Given the description of an element on the screen output the (x, y) to click on. 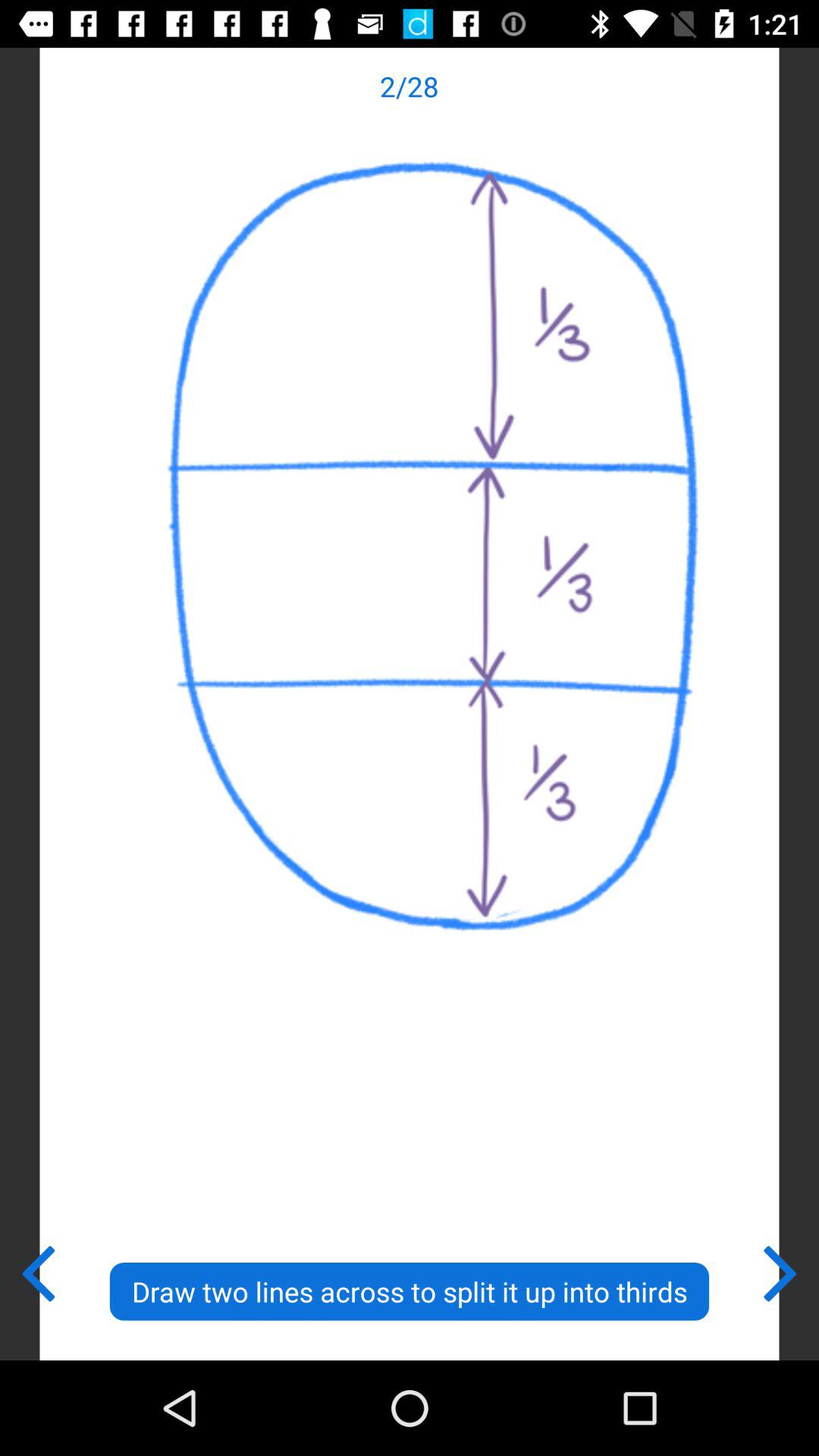
turn on the item next to the draw two lines item (37, 1270)
